Given the description of an element on the screen output the (x, y) to click on. 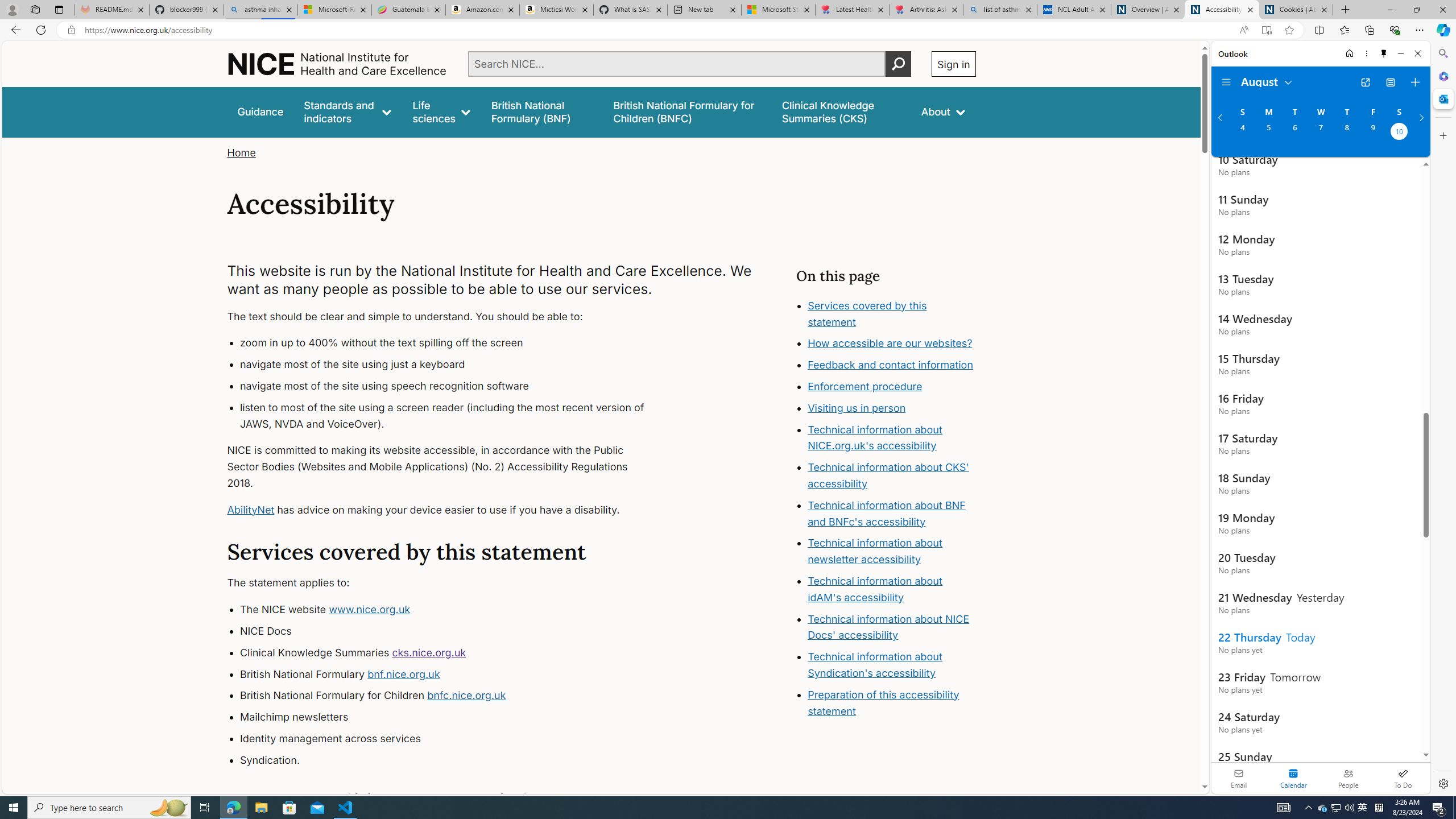
Feedback and contact information (891, 364)
NICE Docs (452, 630)
Preparation of this accessibility statement (891, 702)
Mailchimp newsletters (452, 717)
The NICE website www.nice.org.uk (452, 609)
zoom in up to 400% without the text spilling off the screen (452, 343)
Technical information about CKS' accessibility (888, 475)
